Given the description of an element on the screen output the (x, y) to click on. 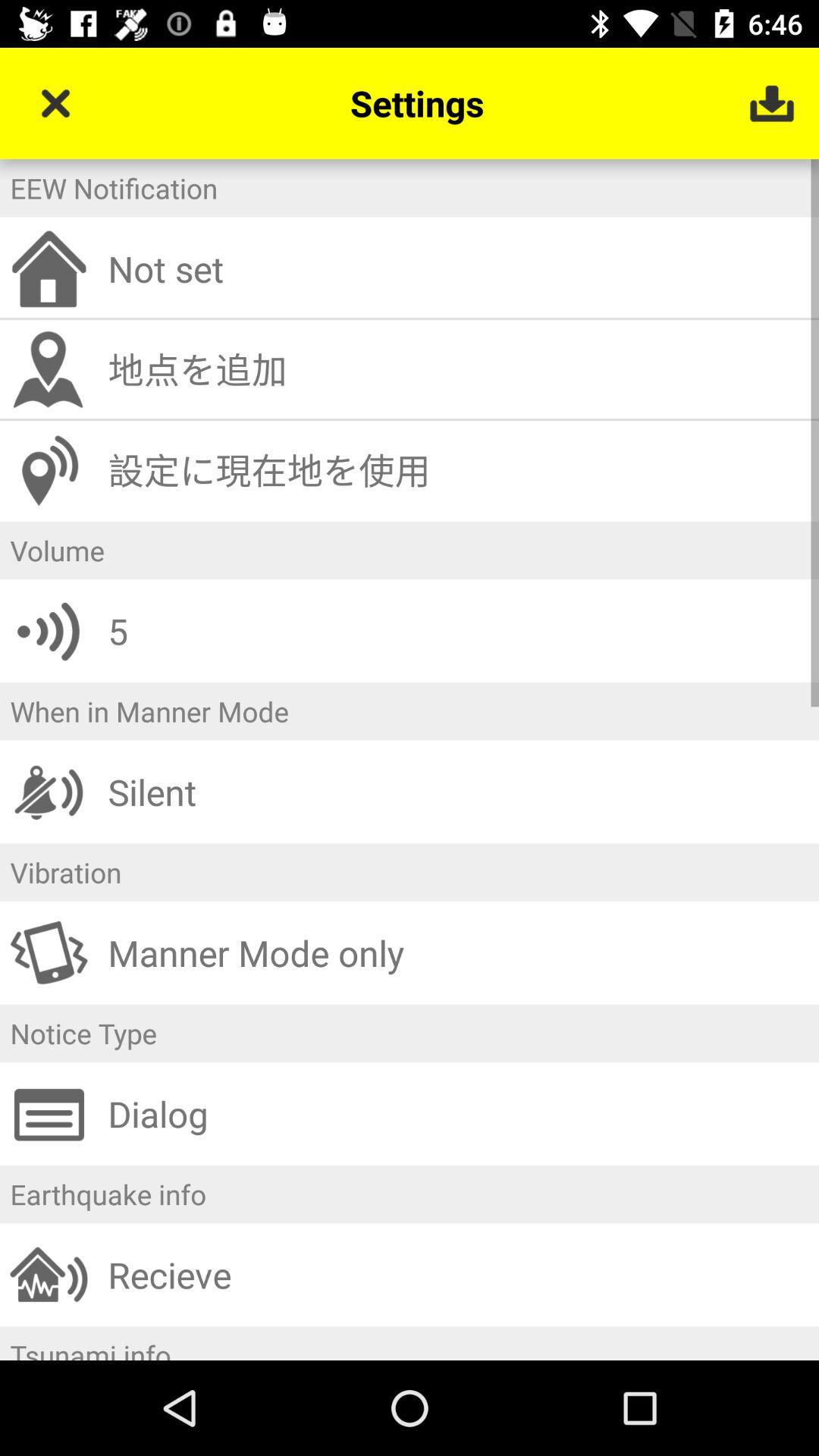
swipe to not set (458, 268)
